Given the description of an element on the screen output the (x, y) to click on. 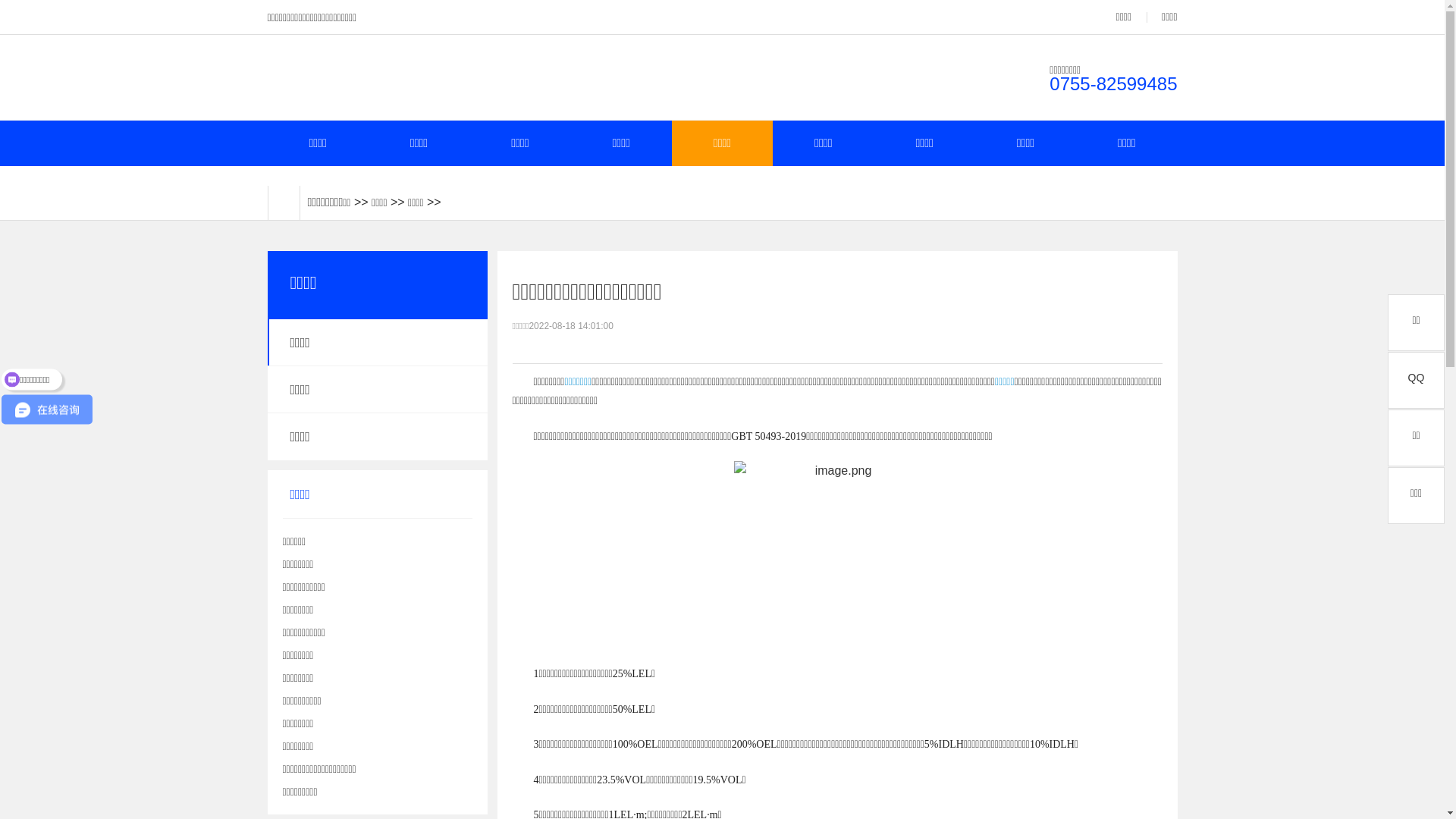
1660888915357035.png Element type: hover (837, 544)
QQ Element type: text (1415, 379)
